Given the description of an element on the screen output the (x, y) to click on. 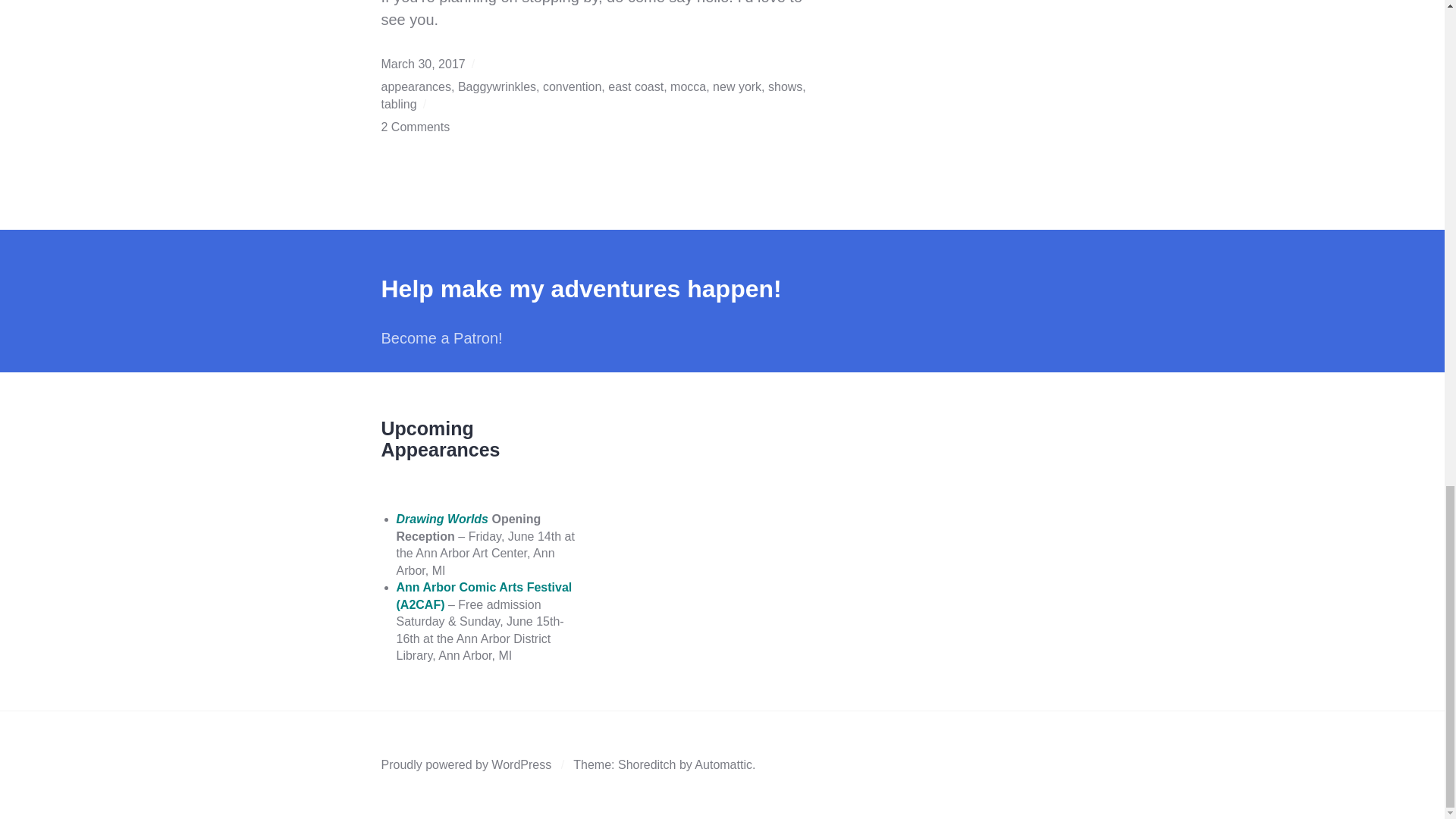
mocca (687, 86)
Drawing Worlds (441, 518)
shows (785, 86)
Become a Patron! (441, 337)
appearances (415, 86)
2 Comments (414, 126)
Baggywrinkles (496, 86)
east coast (635, 86)
March 30, 2017 (422, 63)
new york (737, 86)
